Given the description of an element on the screen output the (x, y) to click on. 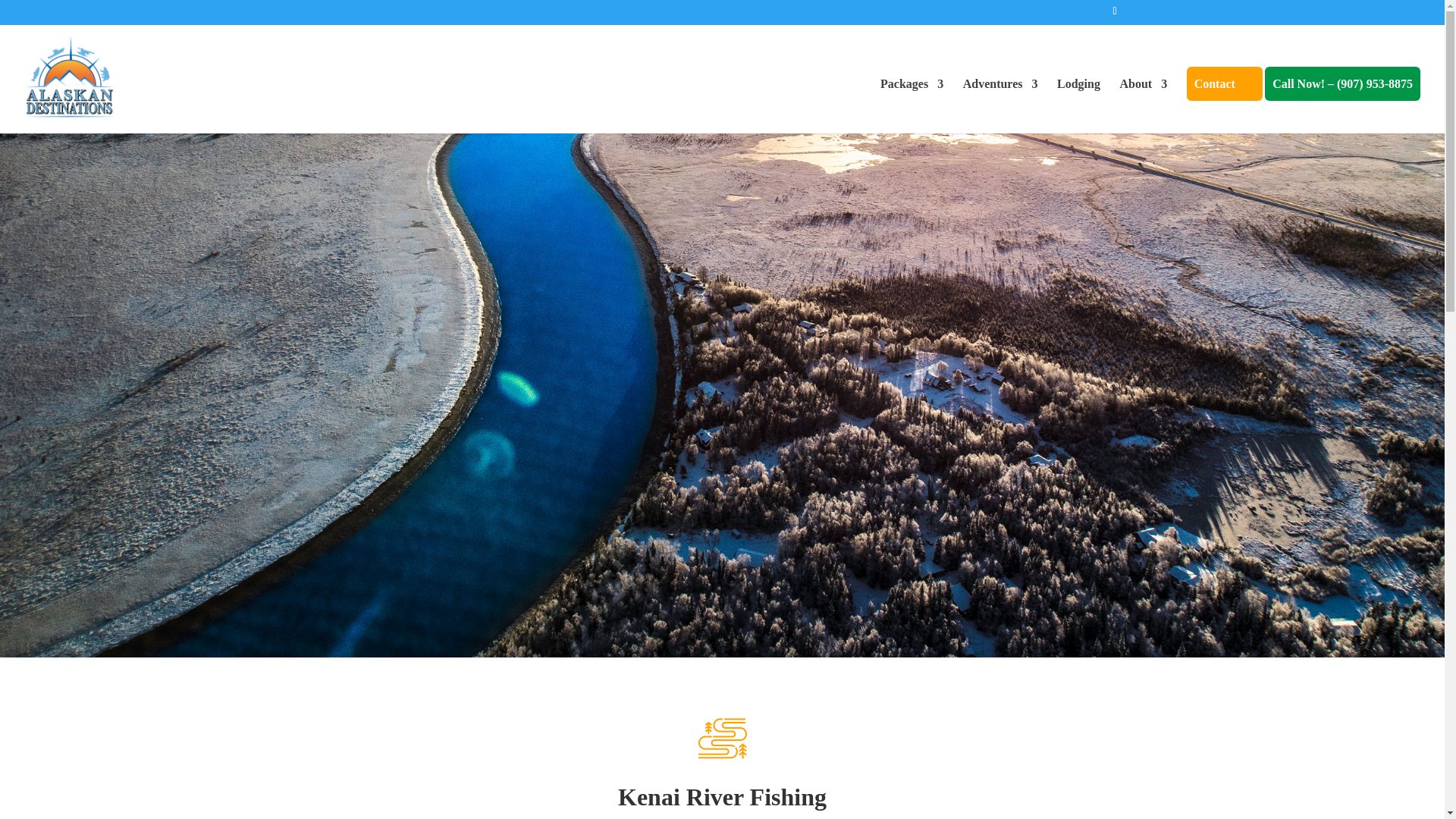
Adventures (1000, 105)
Contact (1224, 105)
river (721, 738)
Packages (911, 105)
